Given the description of an element on the screen output the (x, y) to click on. 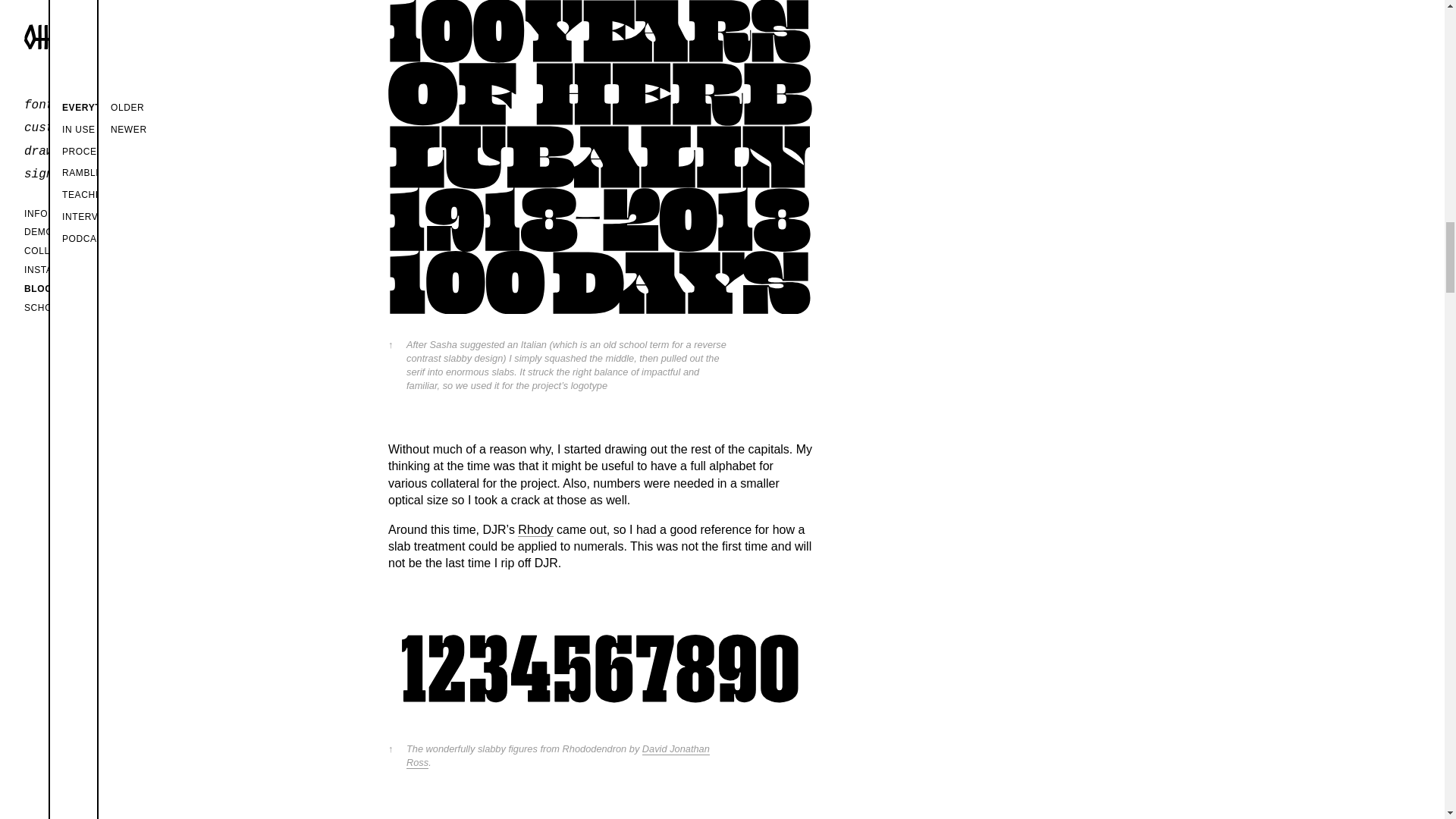
Rhody (535, 530)
David Jonathan Ross (558, 755)
